Given the description of an element on the screen output the (x, y) to click on. 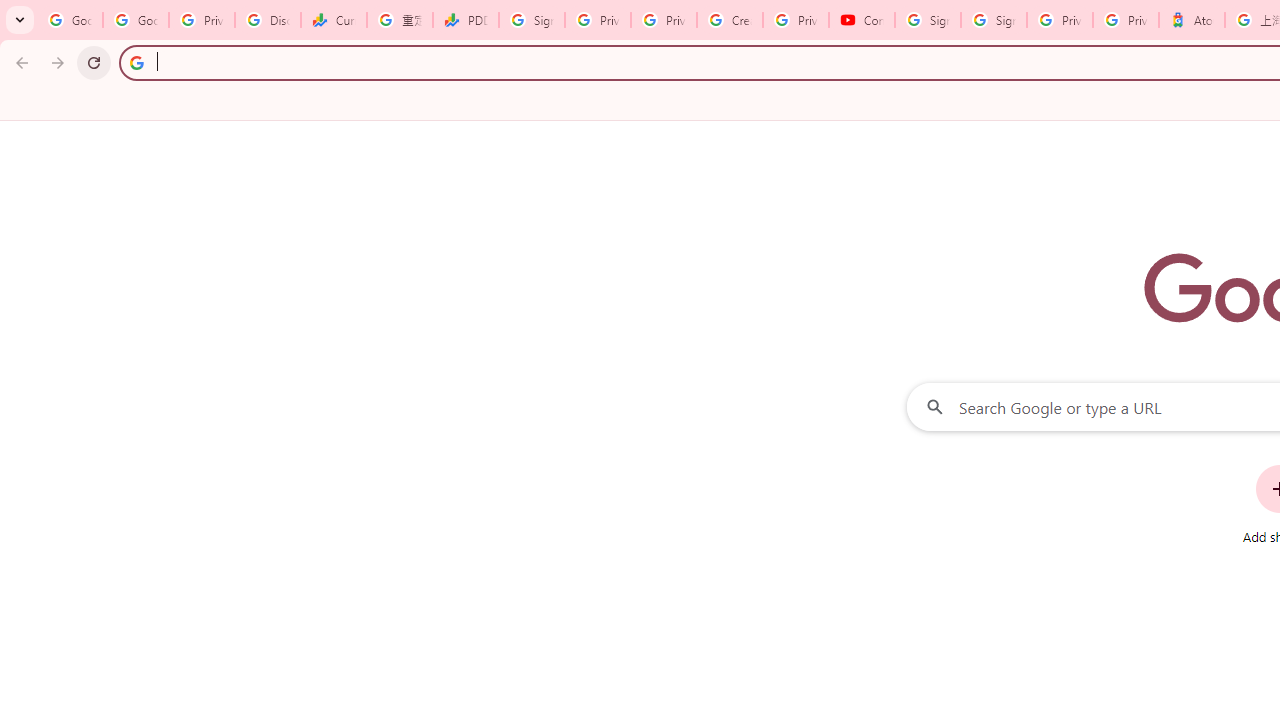
Sign in - Google Accounts (927, 20)
Create your Google Account (729, 20)
PDD Holdings Inc - ADR (PDD) Price & News - Google Finance (465, 20)
Currencies - Google Finance (333, 20)
Search icon (136, 62)
